Given the description of an element on the screen output the (x, y) to click on. 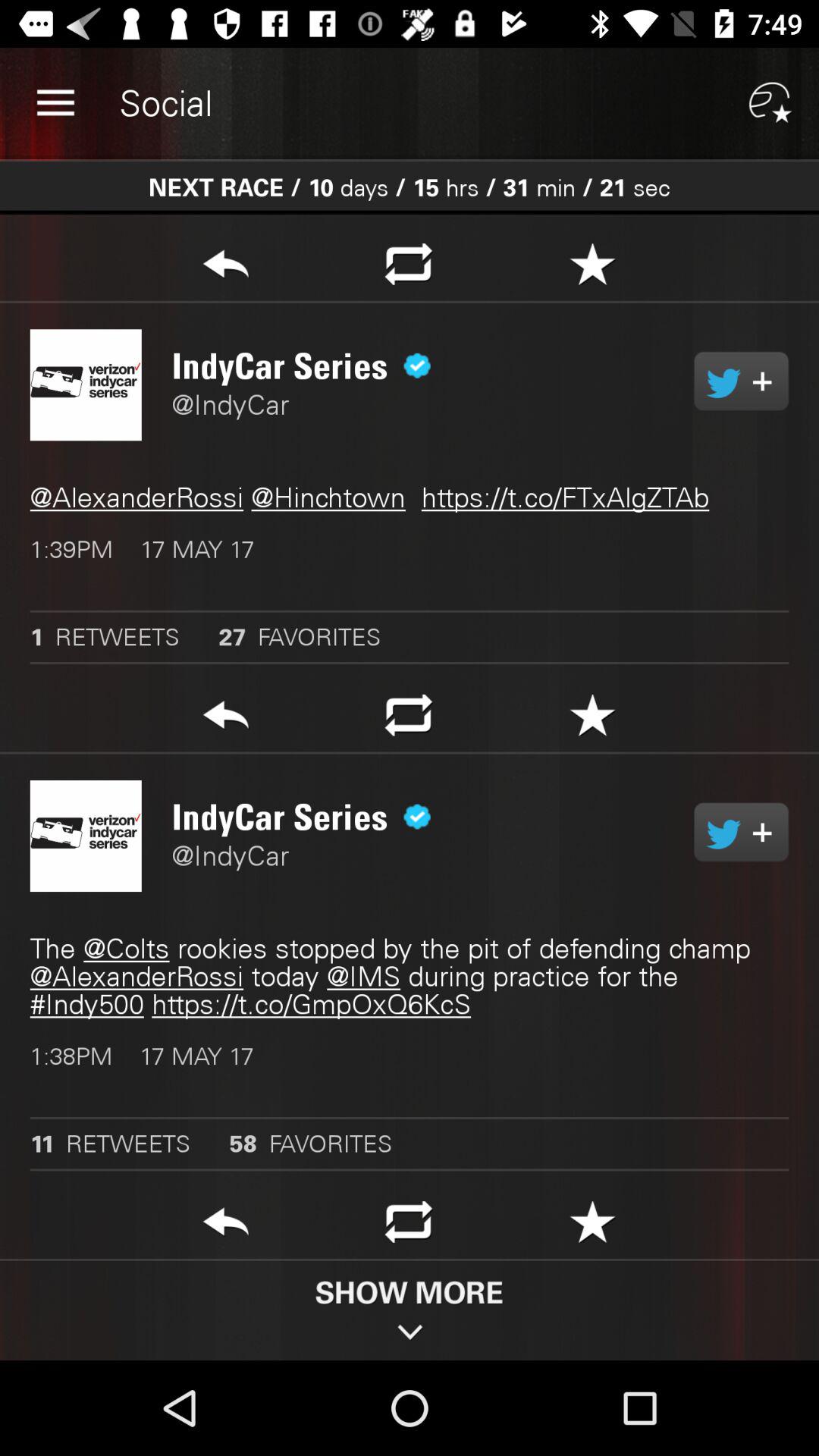
follow on twitter (740, 831)
